Given the description of an element on the screen output the (x, y) to click on. 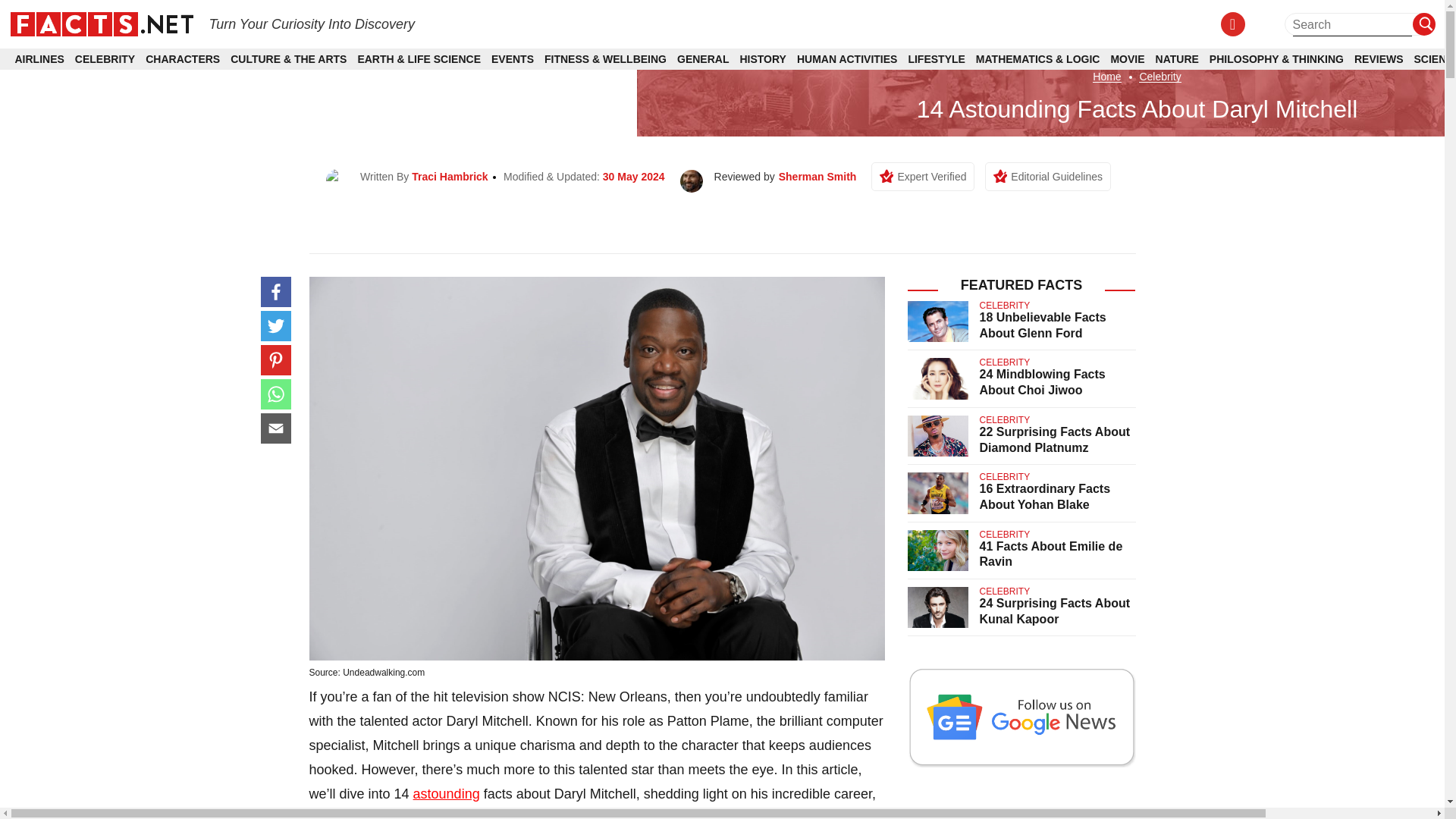
EVENTS (513, 59)
41 Facts About Emilie de Ravin  (1050, 553)
Facts.net (100, 23)
HISTORY (762, 59)
CHARACTERS (182, 59)
16 Extraordinary Facts About Yohan Blake  (1044, 496)
HUMAN ACTIVITIES (846, 59)
GENERAL (703, 59)
CELEBRITY (105, 59)
24 Mindblowing Facts About Choi Jiwoo  (1042, 381)
